Given the description of an element on the screen output the (x, y) to click on. 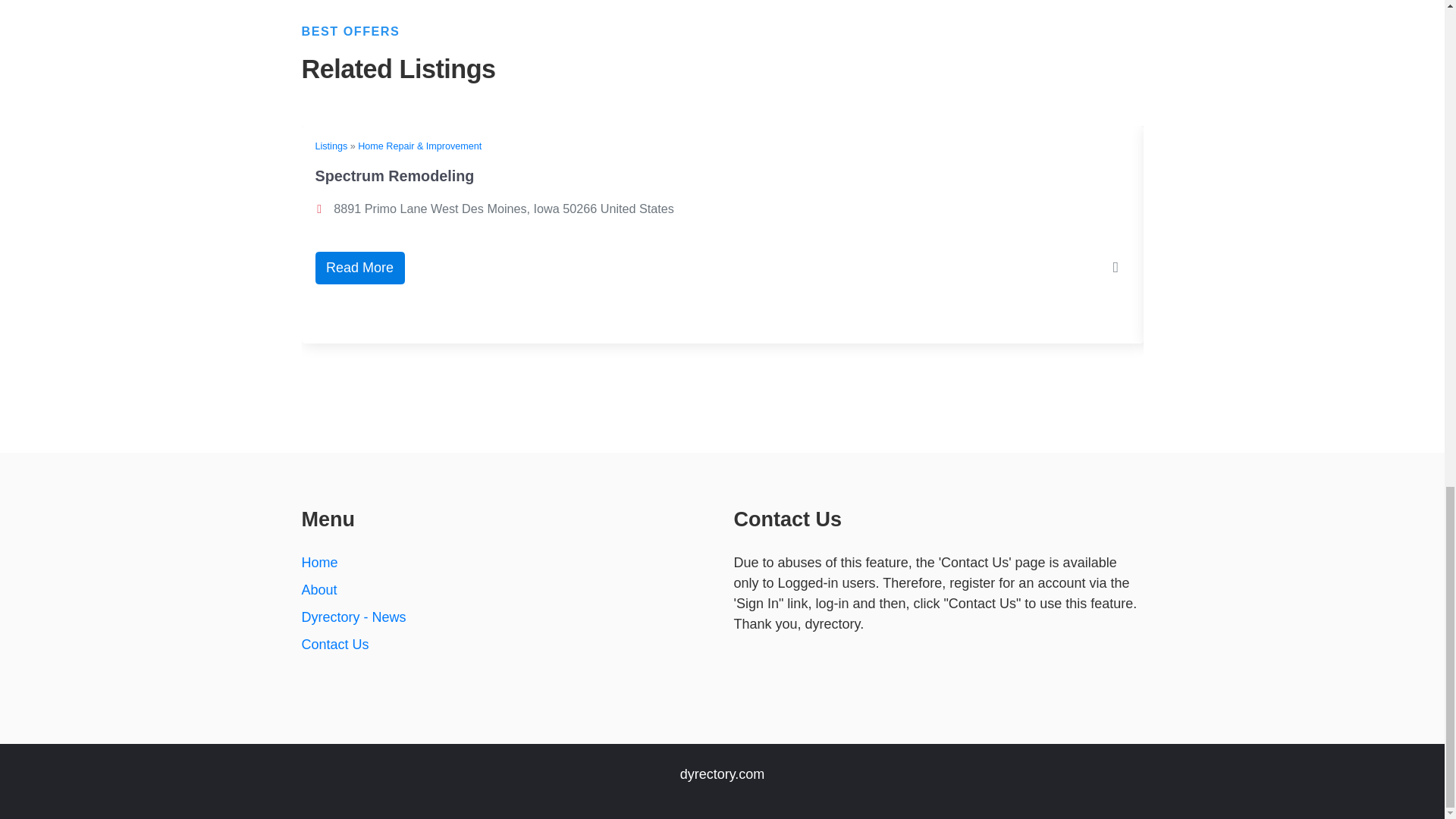
Read More (359, 267)
Listings (331, 145)
Spectrum Remodeling (394, 175)
